Given the description of an element on the screen output the (x, y) to click on. 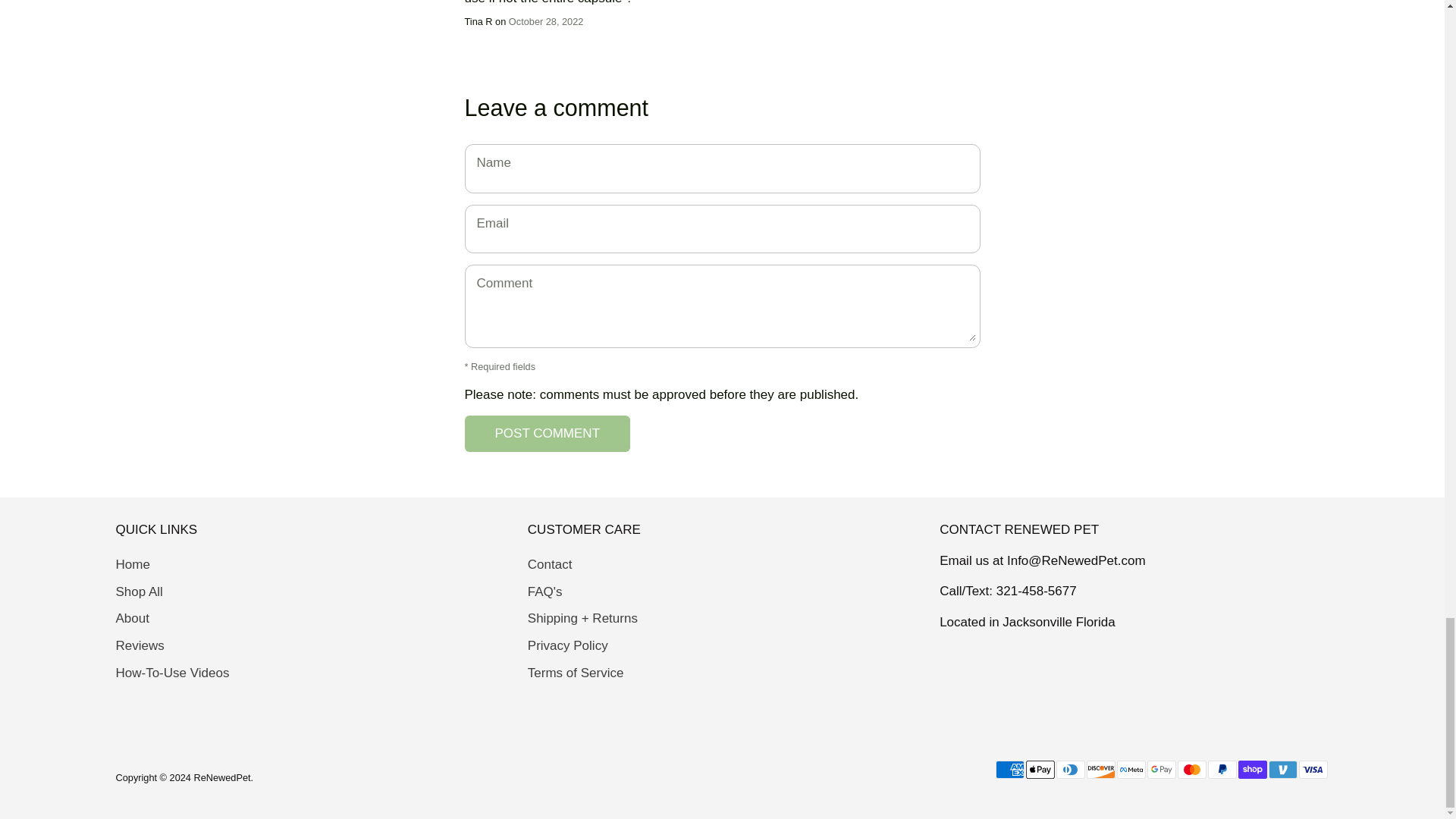
Diners Club (1069, 769)
Apple Pay (1039, 769)
Post comment (547, 433)
Discover (1100, 769)
Google Pay (1160, 769)
Meta Pay (1130, 769)
American Express (1008, 769)
Mastercard (1190, 769)
